Given the description of an element on the screen output the (x, y) to click on. 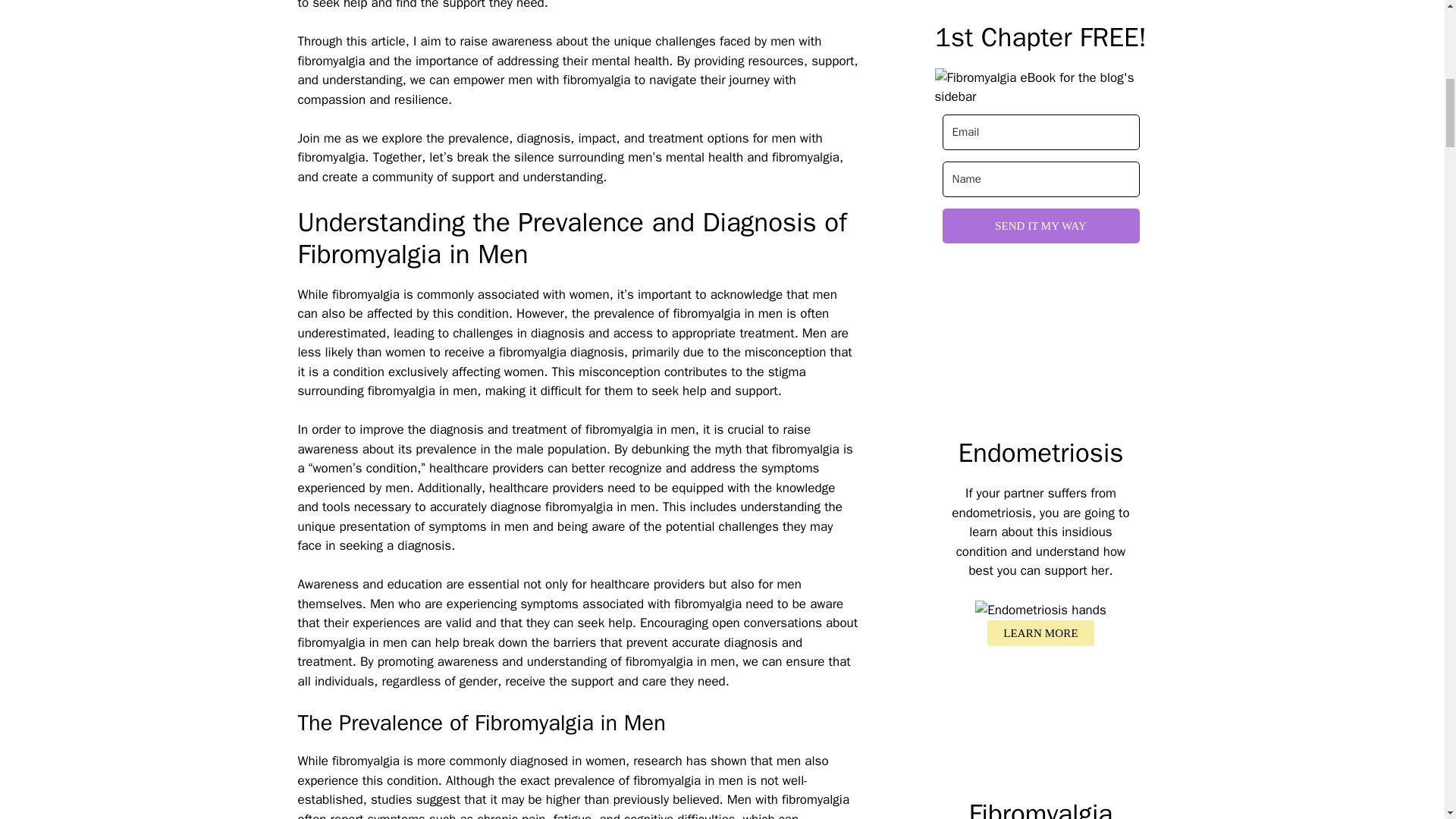
LEARN MORE (1040, 633)
Scroll back to top (1406, 720)
SEND IT MY WAY (1040, 226)
